Given the description of an element on the screen output the (x, y) to click on. 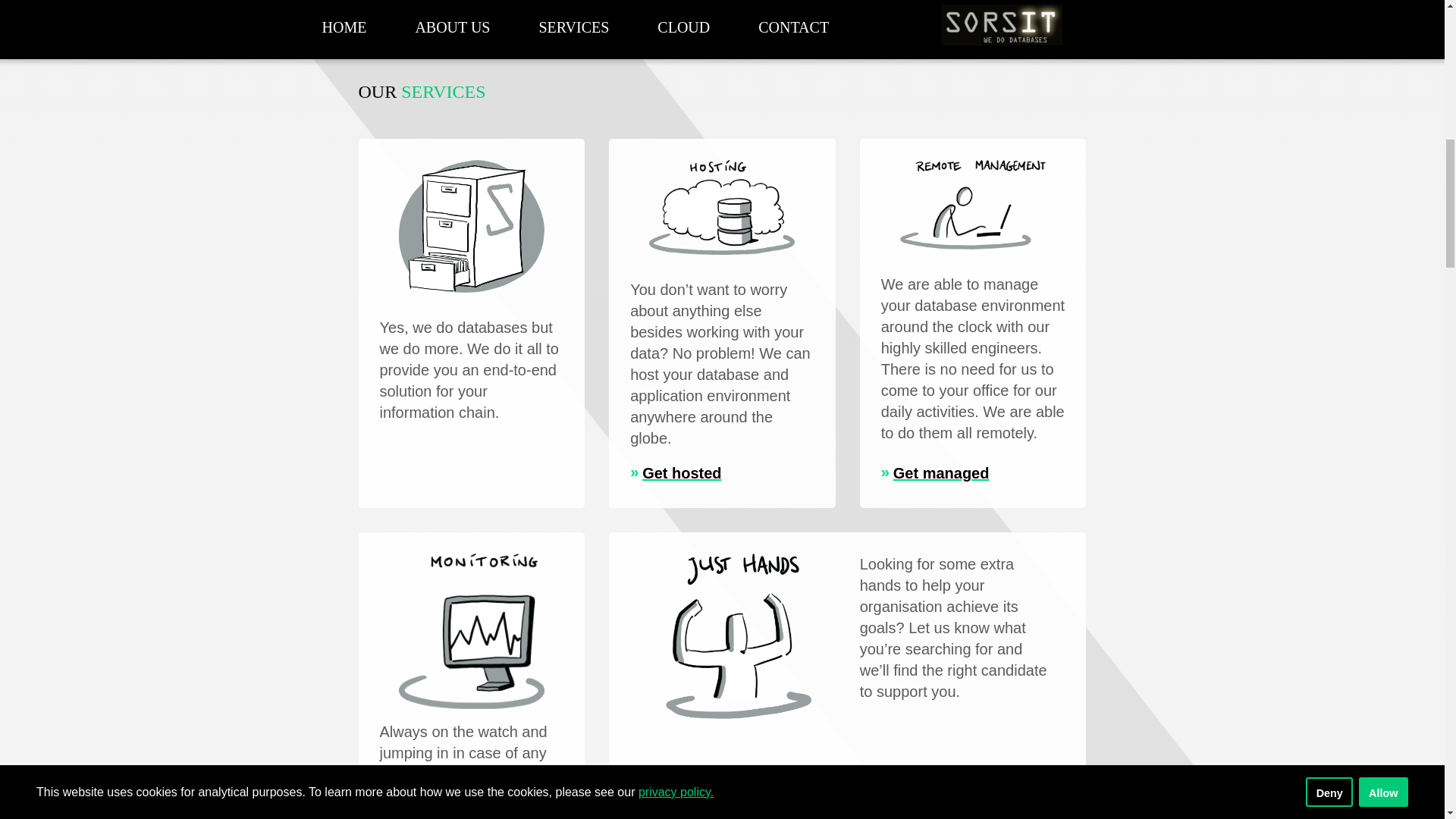
Get managed (935, 473)
Get hosted (675, 473)
